Given the description of an element on the screen output the (x, y) to click on. 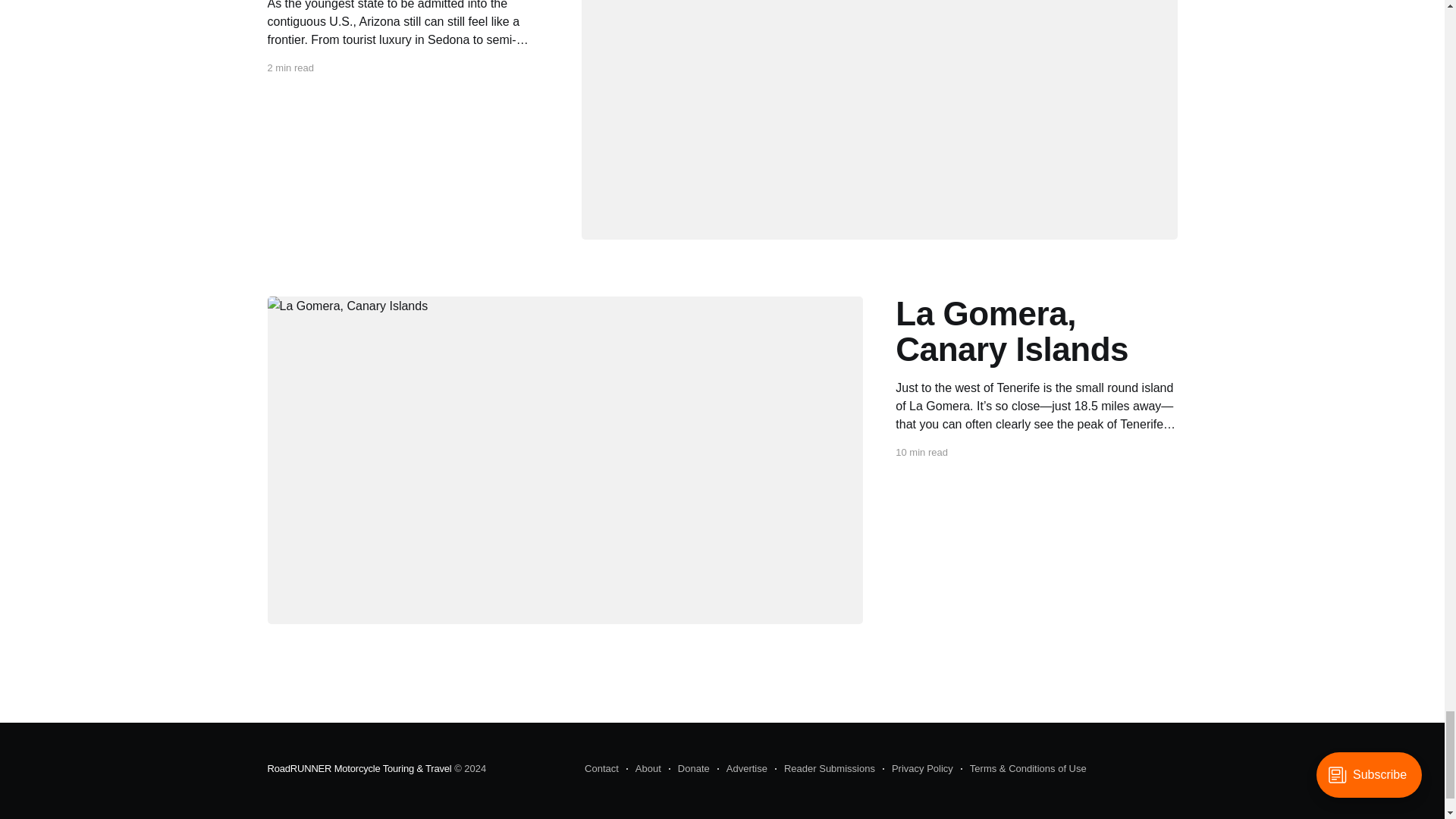
Advertise (742, 768)
Contact (601, 768)
Donate (689, 768)
Reader Submissions (824, 768)
About (643, 768)
Privacy Policy (917, 768)
